Given the description of an element on the screen output the (x, y) to click on. 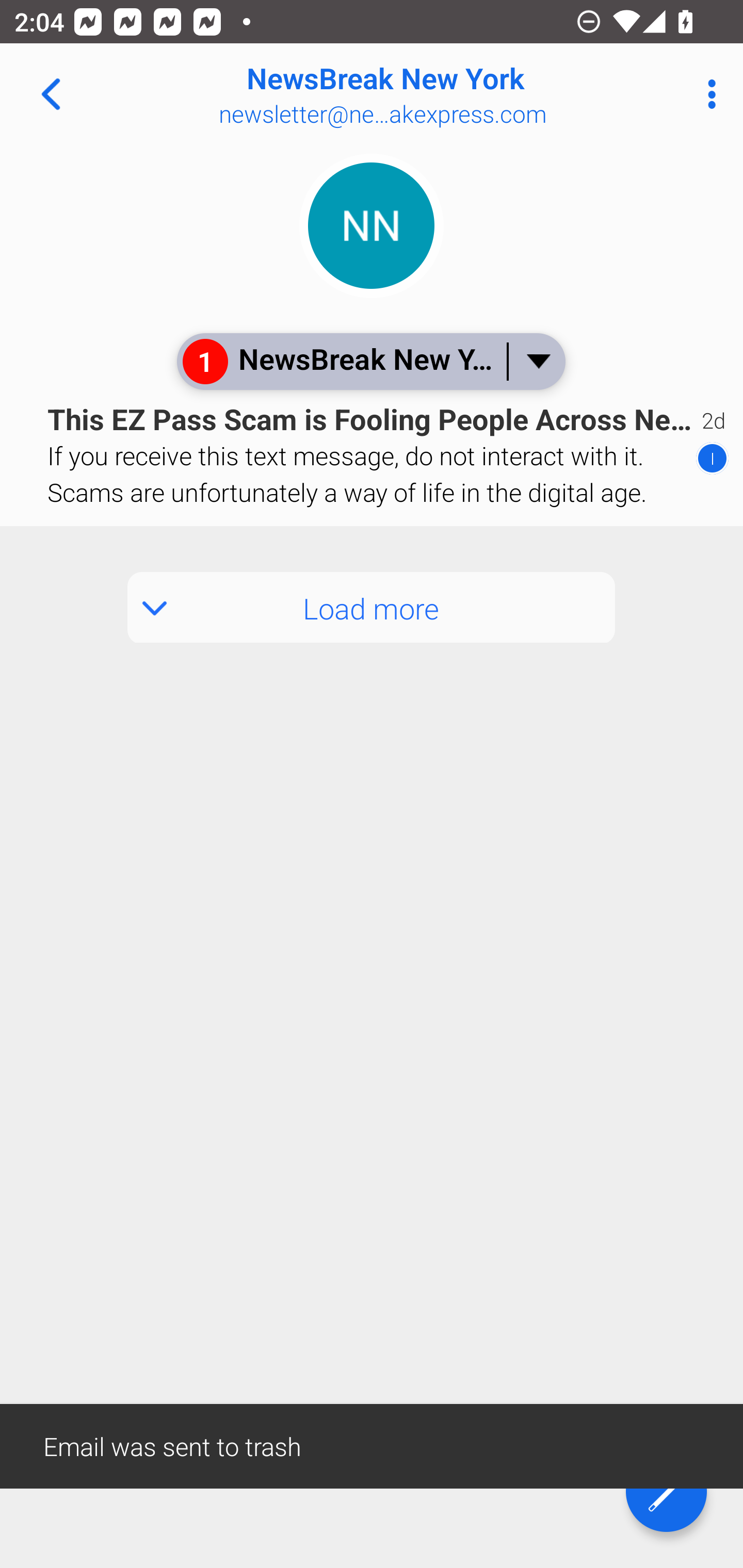
Navigate up (50, 93)
NewsBreak New York newsletter@newsbreakexpress.com (436, 93)
More Options (706, 93)
1 NewsBreak New York & You (370, 361)
Load more (371, 607)
Email was sent to trash (371, 1445)
